Given the description of an element on the screen output the (x, y) to click on. 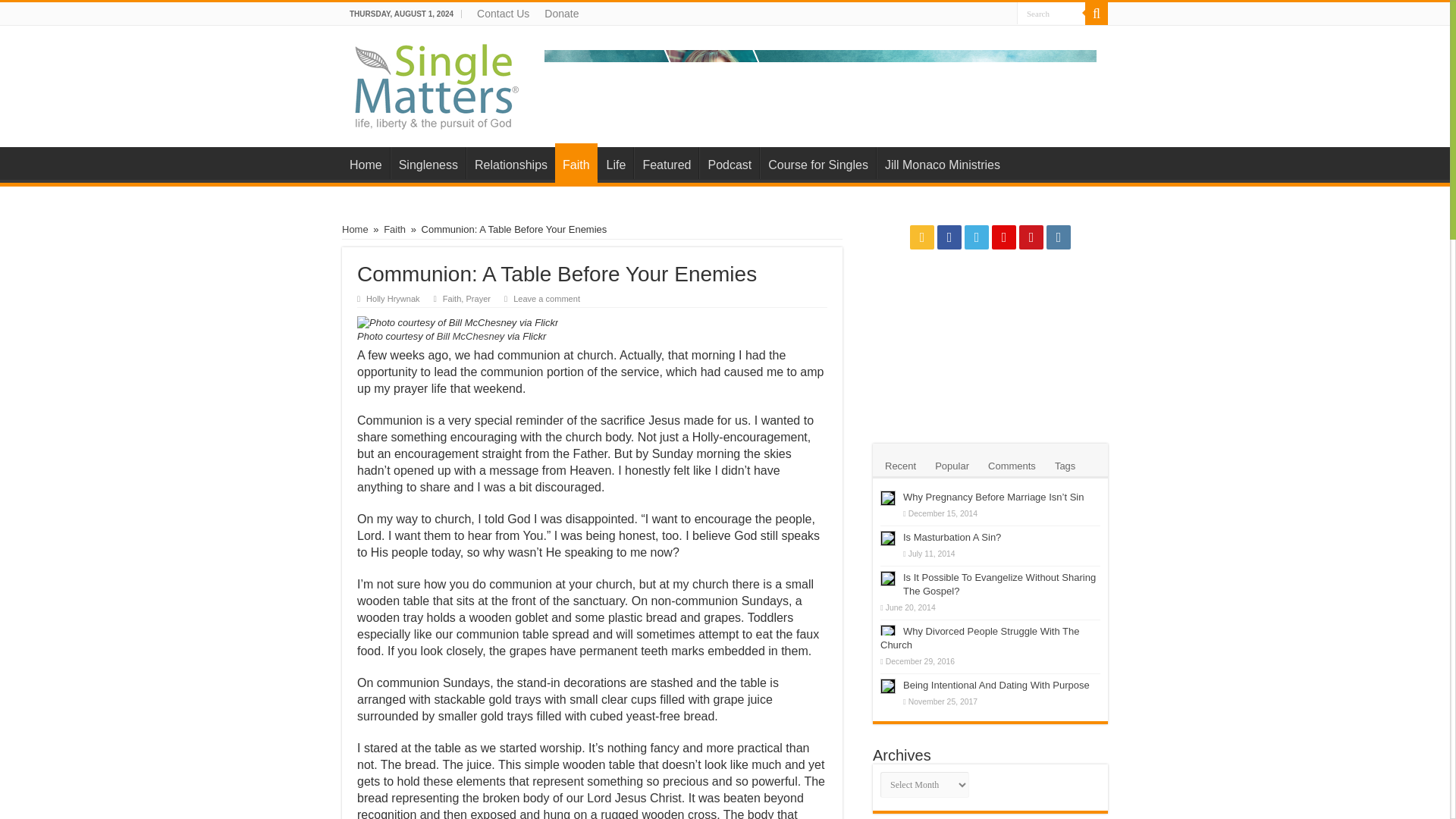
Search (1096, 13)
Course for Singles (818, 163)
Single Matters Magazine with Jill Monaco Ministries (437, 83)
Search (1050, 13)
Life (615, 163)
Faith (395, 229)
Jill Monaco Ministries (820, 82)
Podcast (728, 163)
Home (366, 163)
Bill McChesney (471, 336)
